Given the description of an element on the screen output the (x, y) to click on. 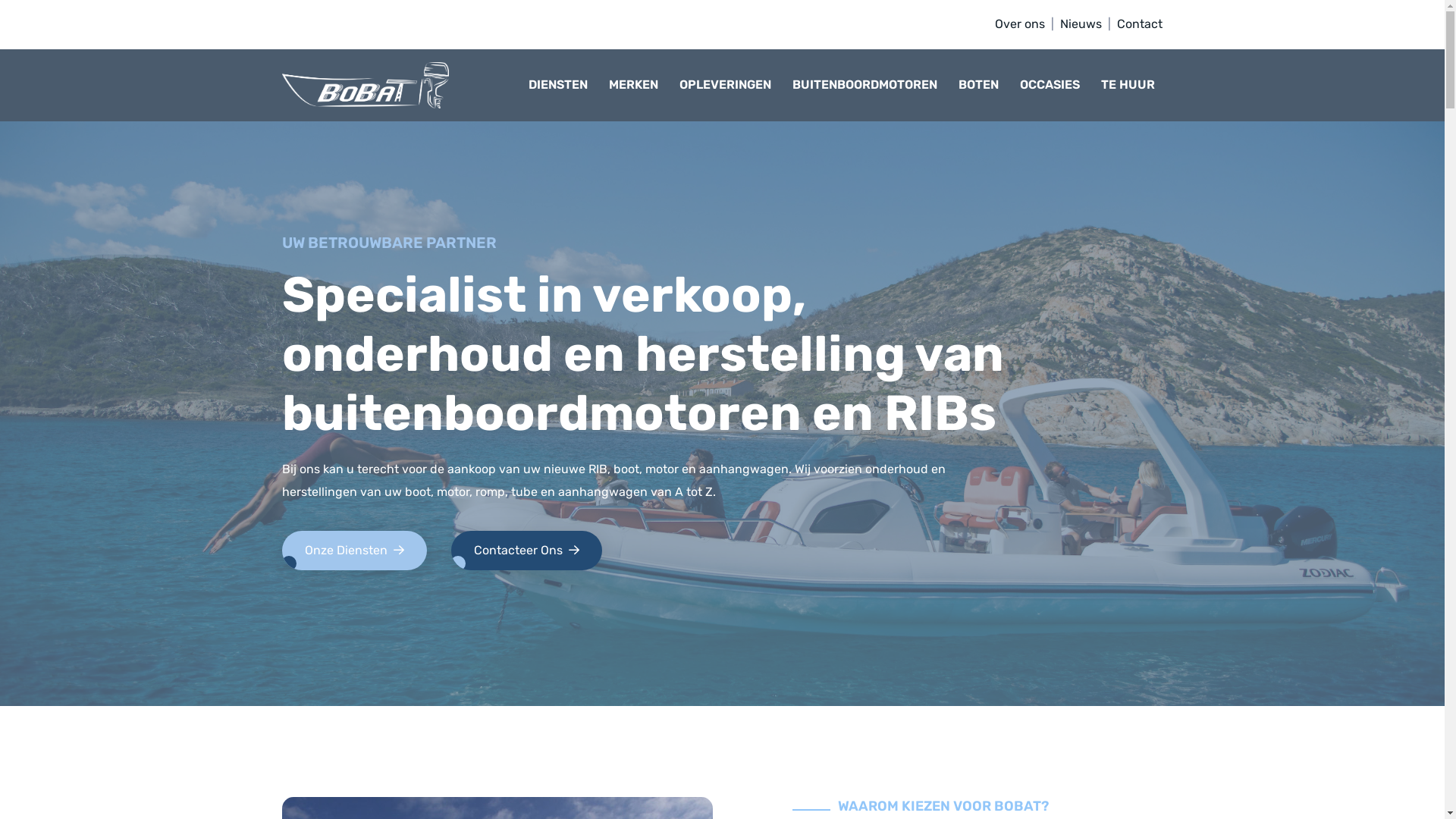
Over ons Element type: text (1019, 24)
OCCASIES Element type: text (1053, 85)
BOTEN Element type: text (982, 85)
BUITENBOORDMOTOREN Element type: text (868, 85)
OPLEVERINGEN Element type: text (728, 85)
DIENSTEN Element type: text (561, 85)
Contacteer Ons Element type: text (526, 550)
MERKEN Element type: text (636, 85)
Nieuws Element type: text (1080, 24)
Onze Diensten Element type: text (354, 550)
Contact Element type: text (1139, 24)
TE HUUR Element type: text (1131, 85)
